Given the description of an element on the screen output the (x, y) to click on. 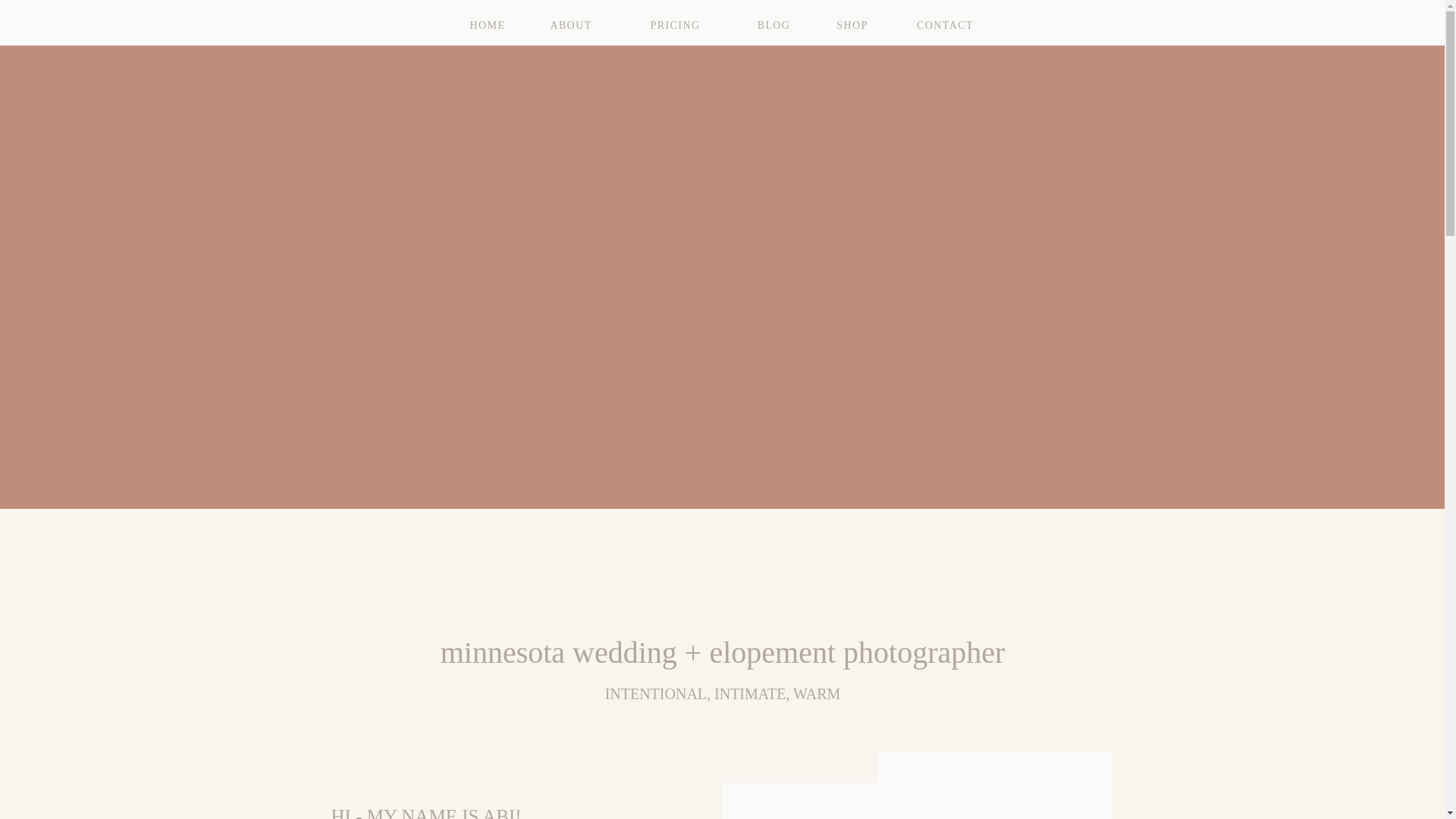
CONTACT (944, 22)
PRICING (675, 22)
BLOG (774, 22)
SHOP (851, 22)
ABOUT (571, 22)
HOME (487, 22)
